Given the description of an element on the screen output the (x, y) to click on. 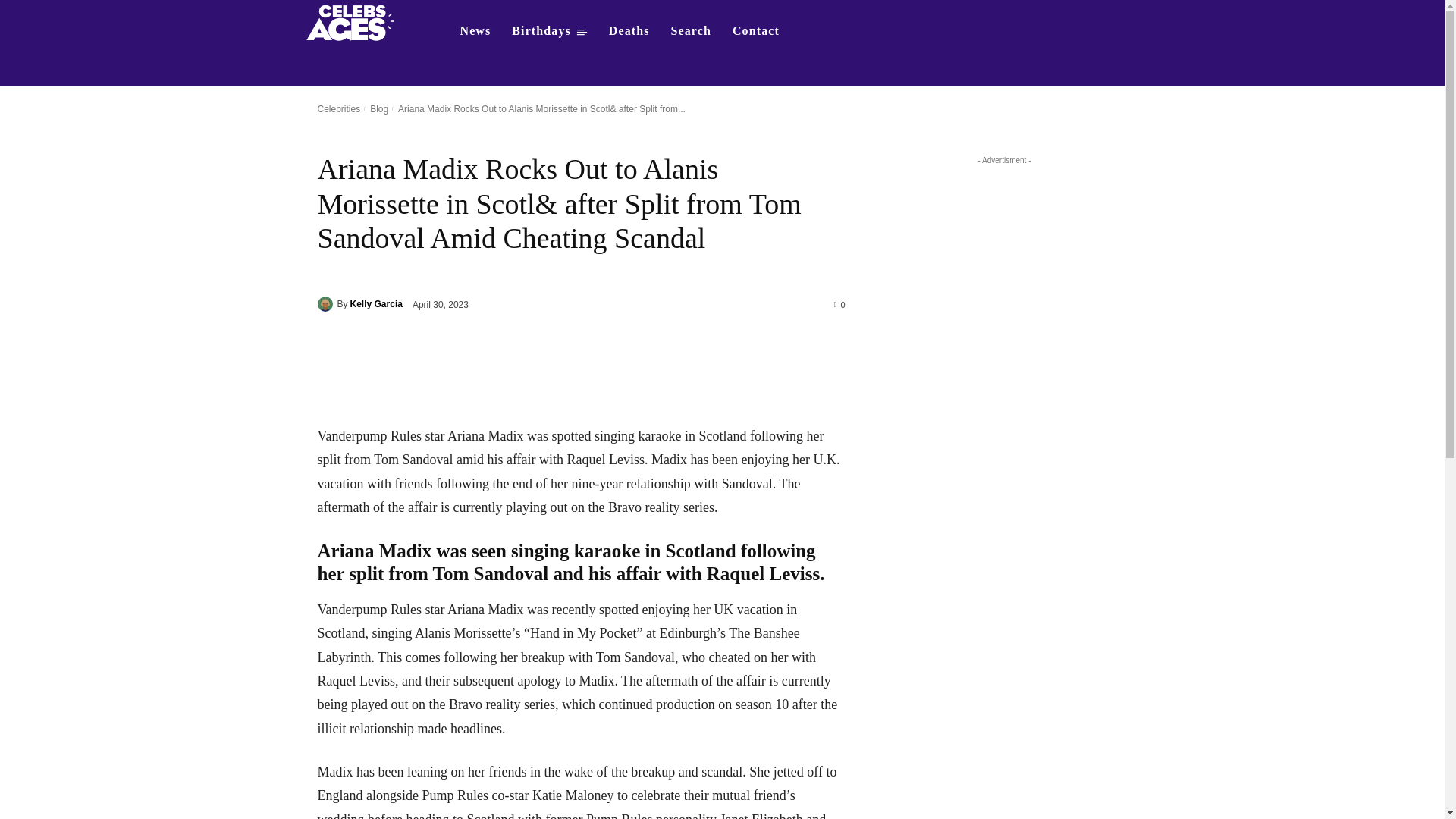
Deaths (629, 31)
Blog (378, 109)
Celebrity Birthdays (548, 31)
Search (691, 31)
Birthdays (548, 31)
Who is dating who (354, 21)
Kelly Garcia (376, 303)
Celebrities (338, 109)
0 (839, 303)
Contact (756, 31)
